Given the description of an element on the screen output the (x, y) to click on. 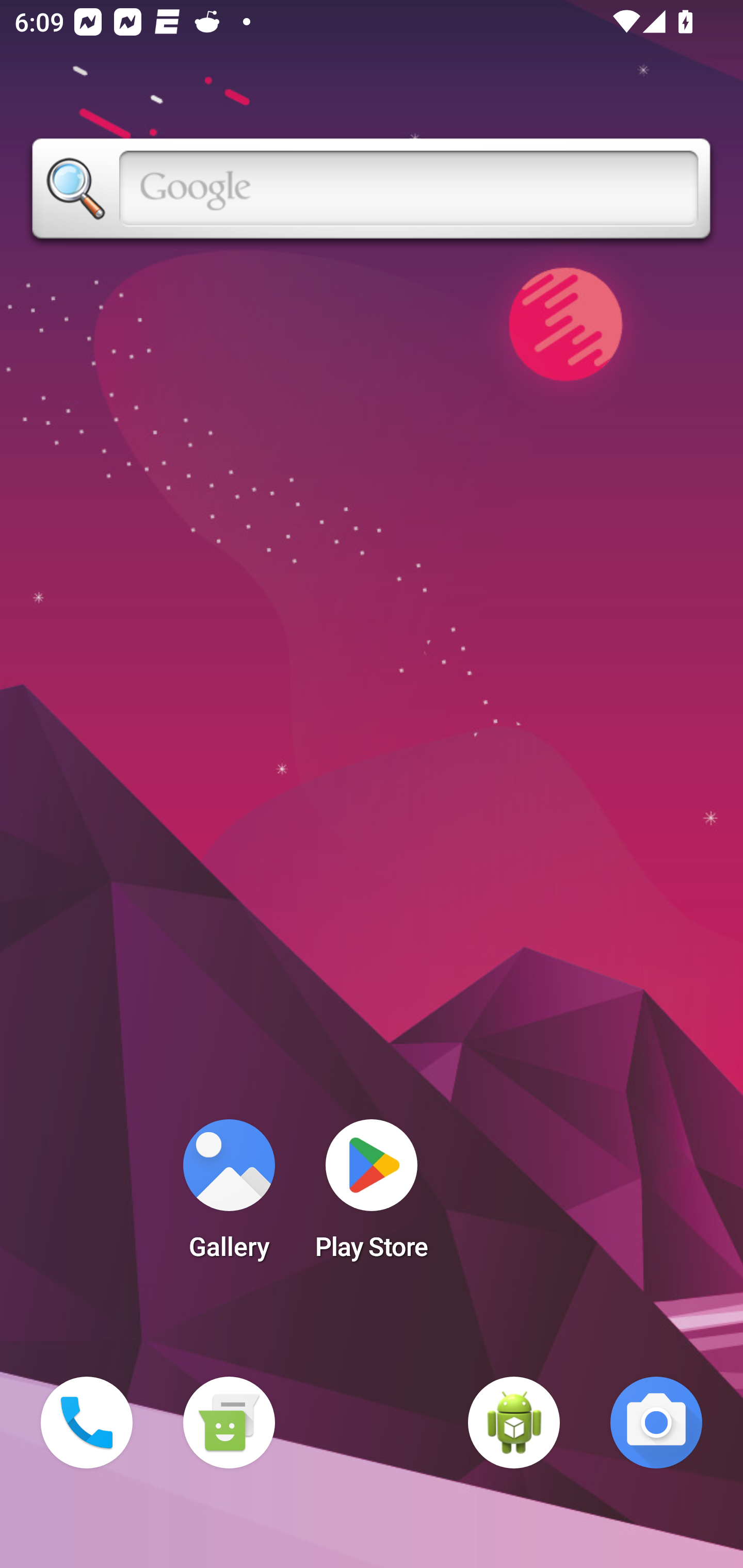
Gallery (228, 1195)
Play Store (371, 1195)
Phone (86, 1422)
Messaging (228, 1422)
WebView Browser Tester (513, 1422)
Camera (656, 1422)
